Given the description of an element on the screen output the (x, y) to click on. 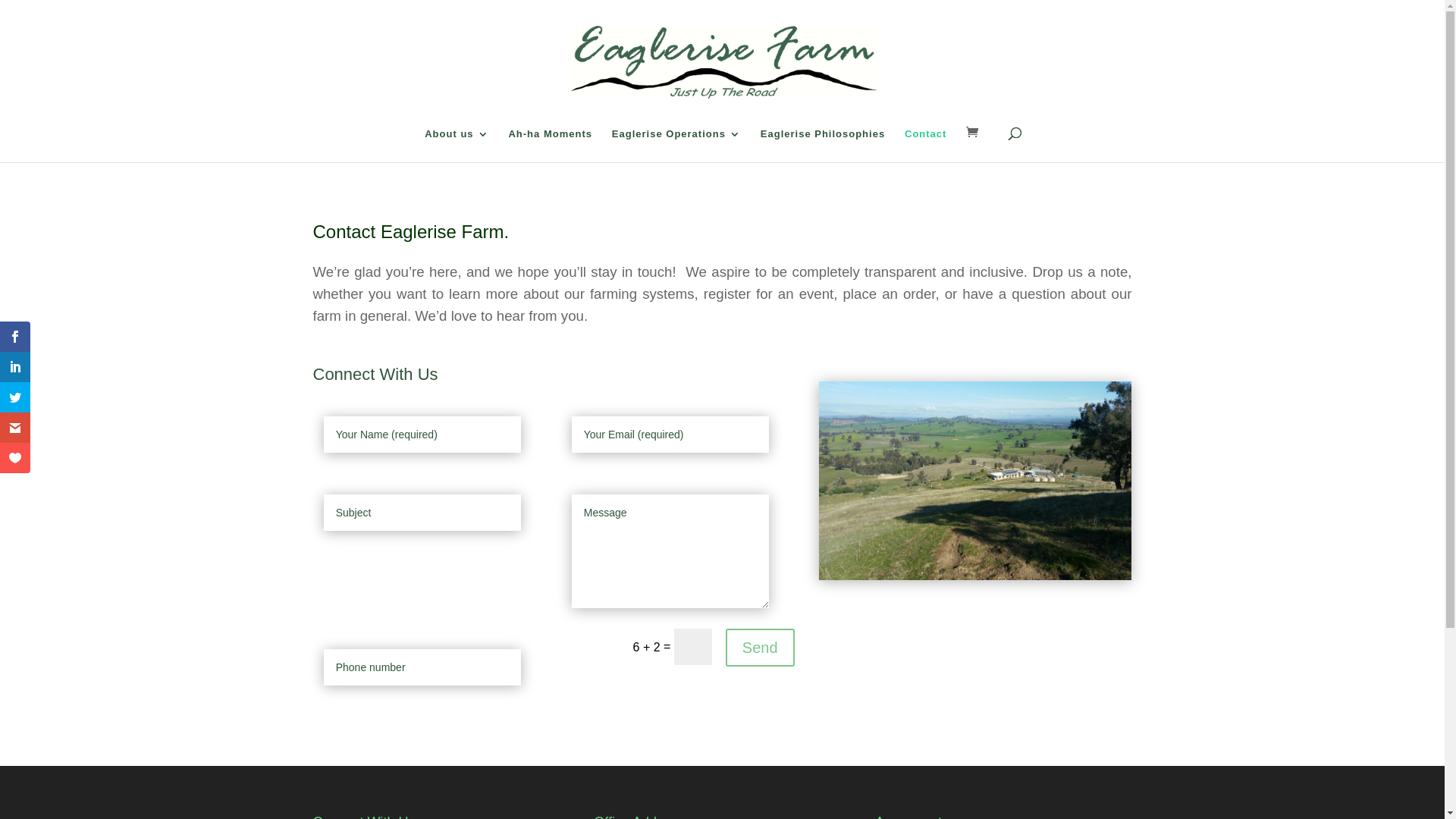
Contact Element type: text (925, 145)
Send Element type: text (759, 647)
About us Element type: text (456, 145)
Eaglerise Philosophies Element type: text (822, 145)
Ah-ha Moments Element type: text (550, 145)
Eaglerise Operations Element type: text (675, 145)
